Given the description of an element on the screen output the (x, y) to click on. 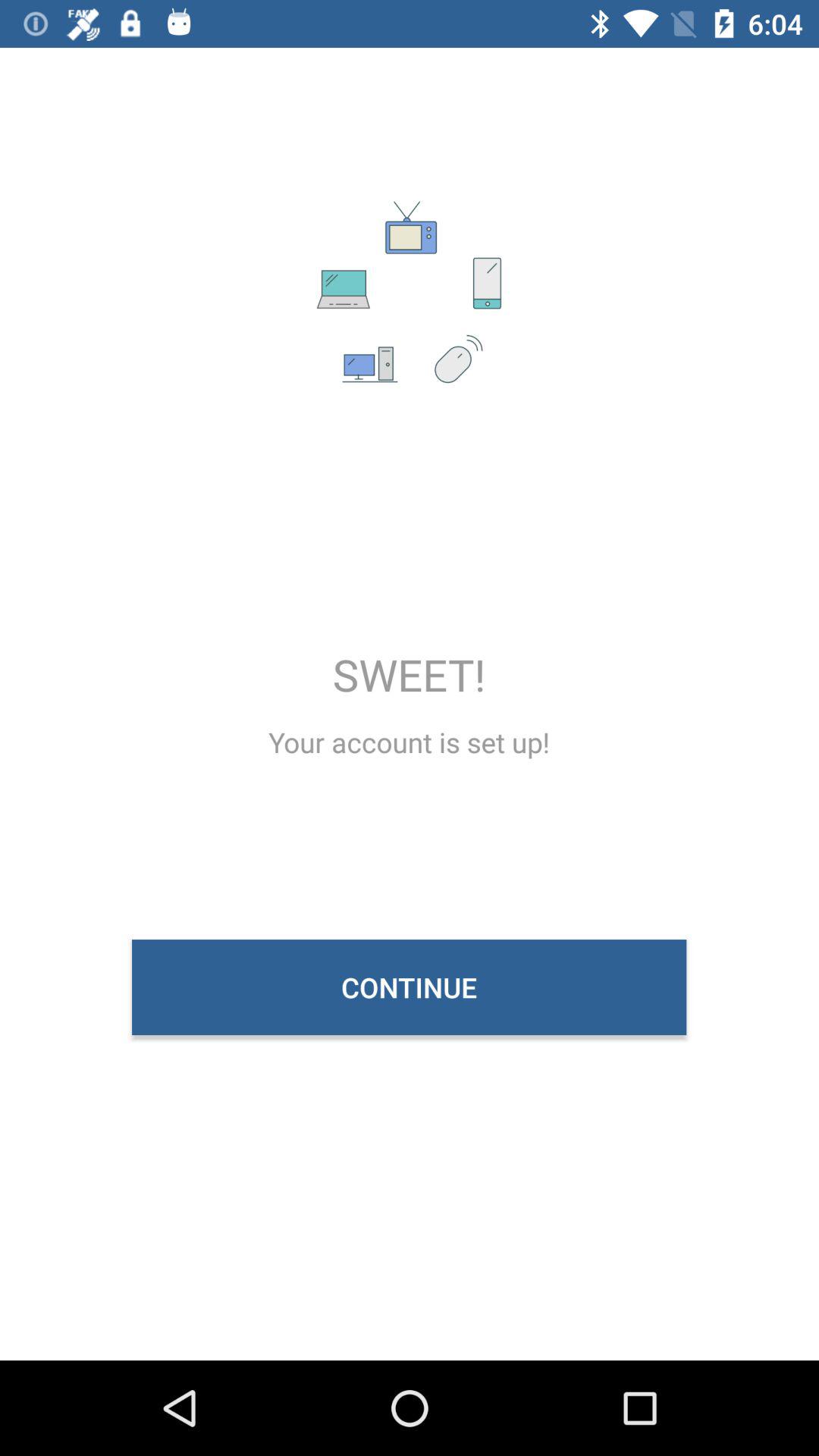
jump until the continue (408, 987)
